Given the description of an element on the screen output the (x, y) to click on. 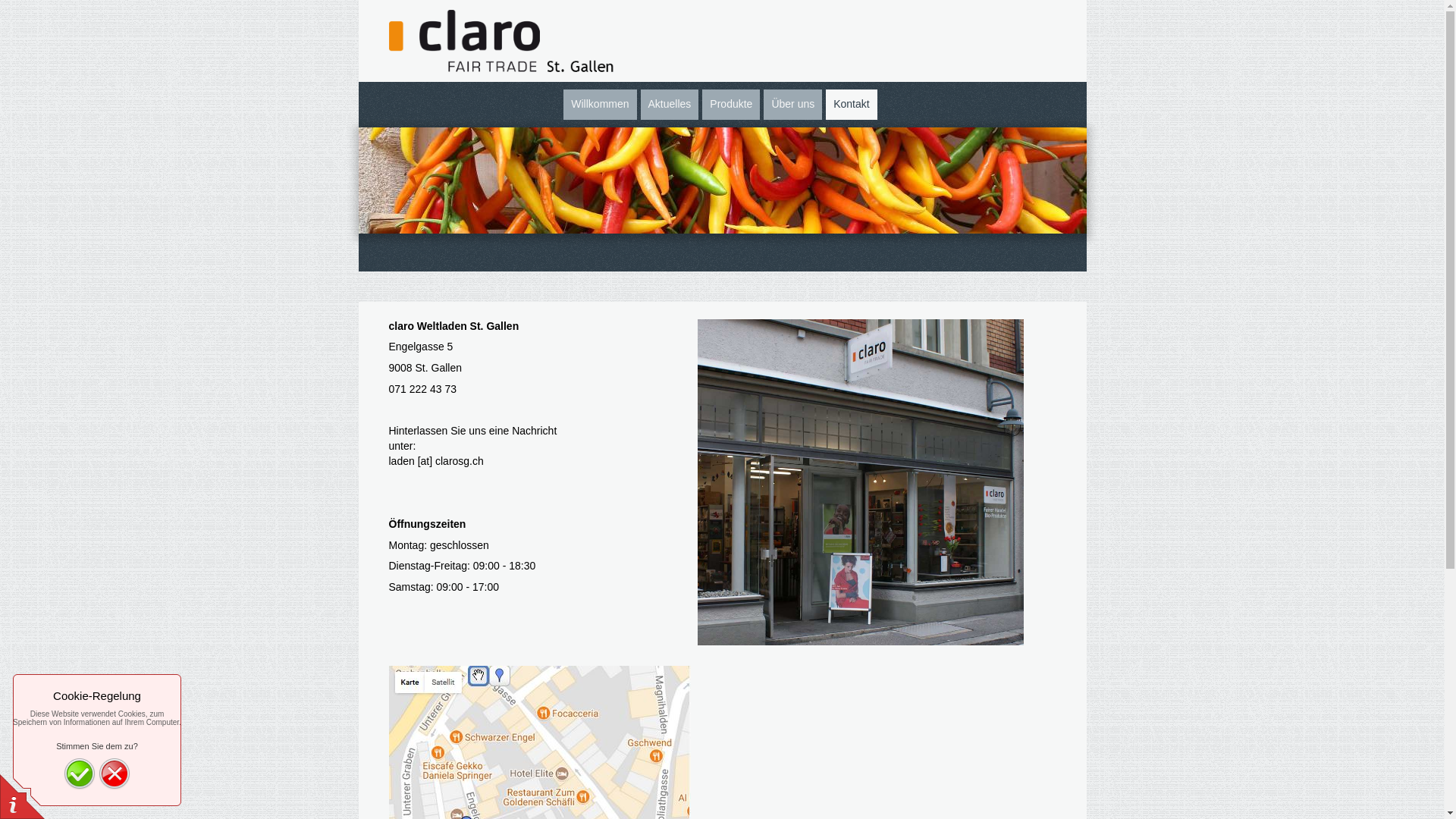
Produkte Element type: text (730, 104)
Willkommen Element type: text (599, 104)
Nein danke, weiter zu Google Element type: hover (114, 774)
Aktuelles Element type: text (669, 104)
Kontakt Element type: text (850, 104)
Ja, ich stimme zu Element type: hover (79, 774)
